Given the description of an element on the screen output the (x, y) to click on. 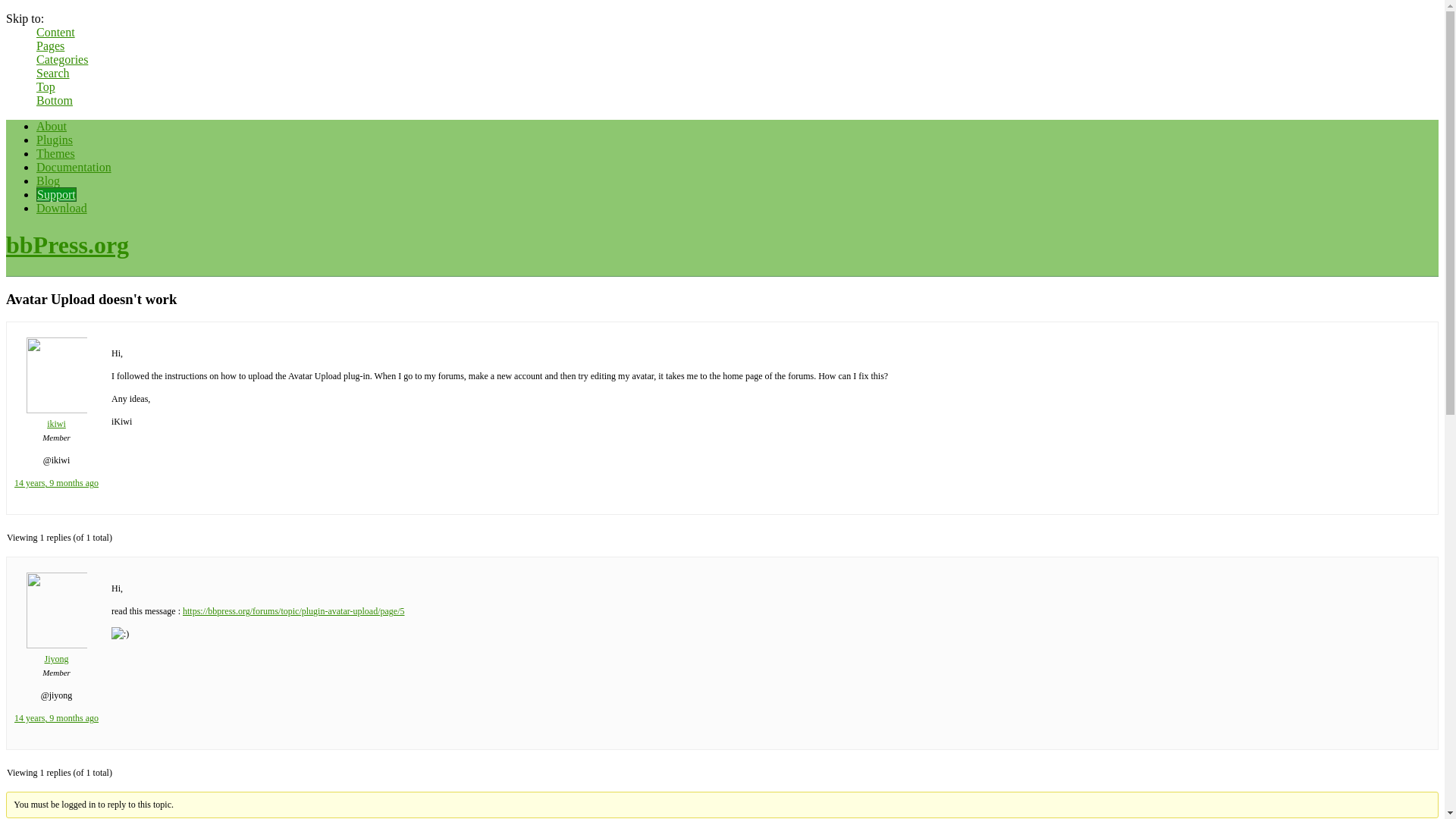
Documentation (74, 166)
Top (45, 86)
bbPress.org (67, 244)
Plugins (54, 139)
Bottom (54, 100)
14 years, 9 months ago (56, 482)
Jiyong (56, 652)
Support (56, 194)
ikiwi (56, 417)
Categories (61, 59)
